Given the description of an element on the screen output the (x, y) to click on. 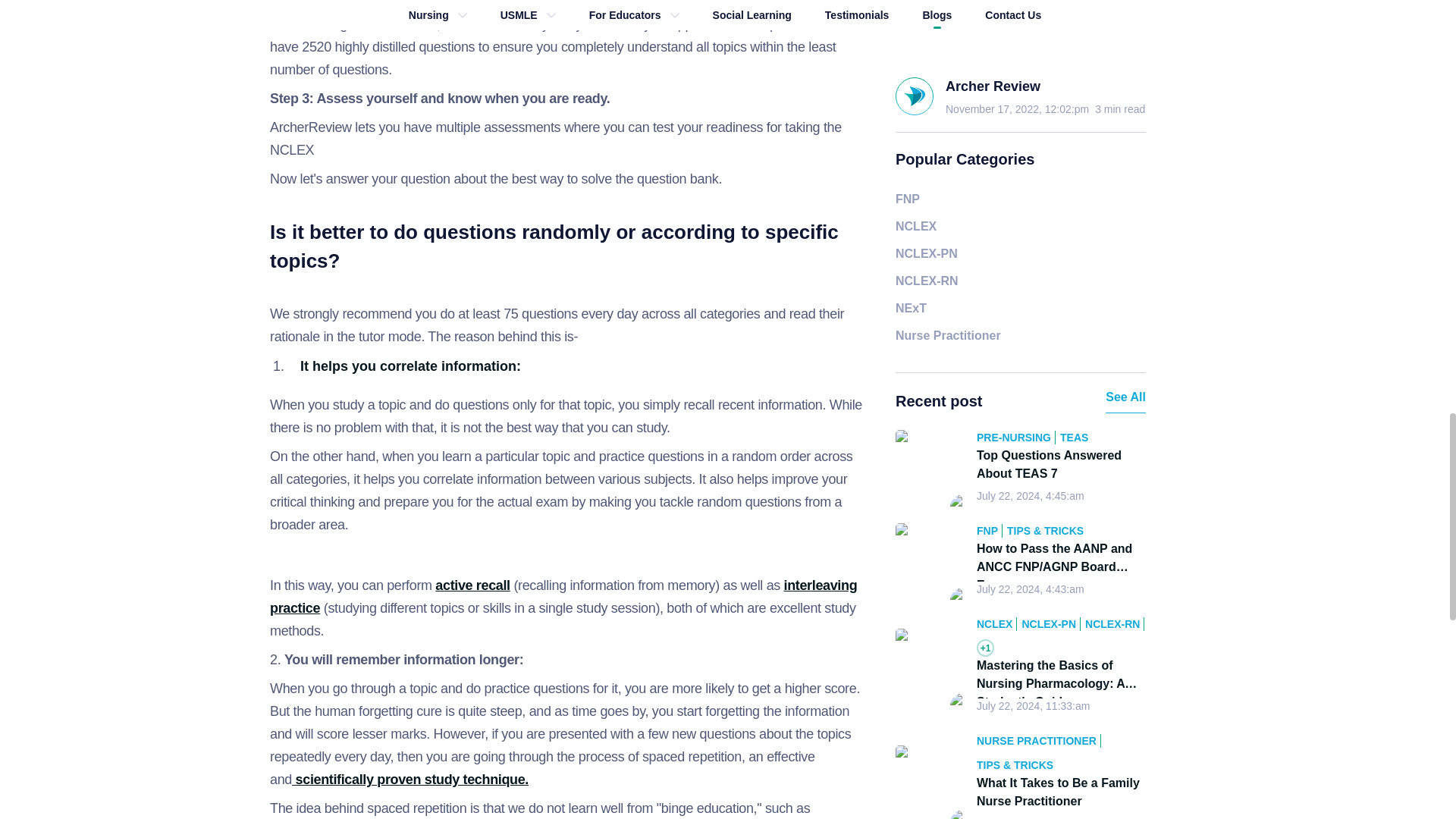
interleaving practice (563, 596)
 scientifically proven study technique. (410, 779)
active recall (472, 585)
